Given the description of an element on the screen output the (x, y) to click on. 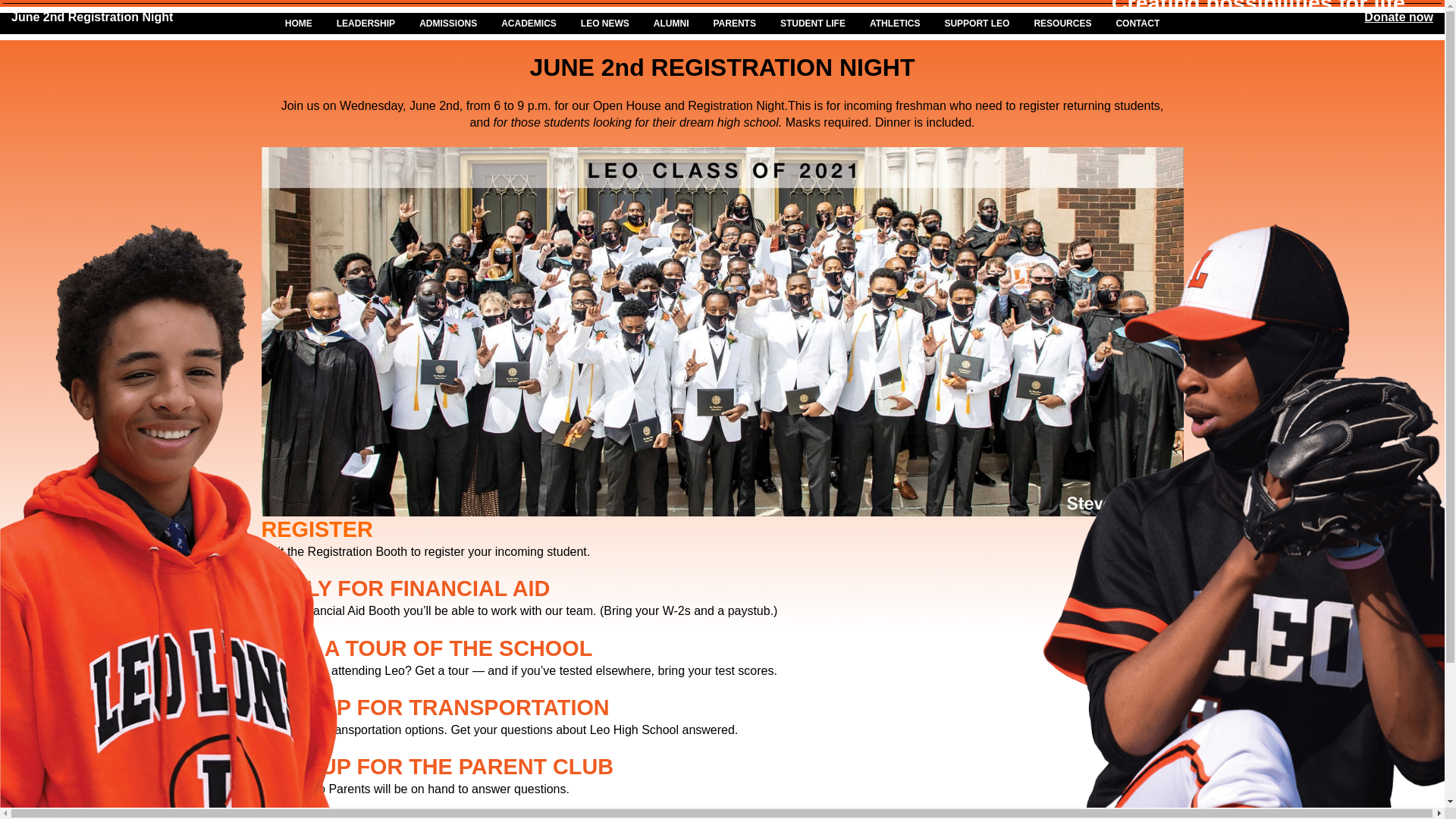
LEADERSHIP (365, 23)
ADMISSIONS (448, 23)
Donate now (1398, 16)
HOME (298, 23)
ACADEMICS (529, 23)
